Given the description of an element on the screen output the (x, y) to click on. 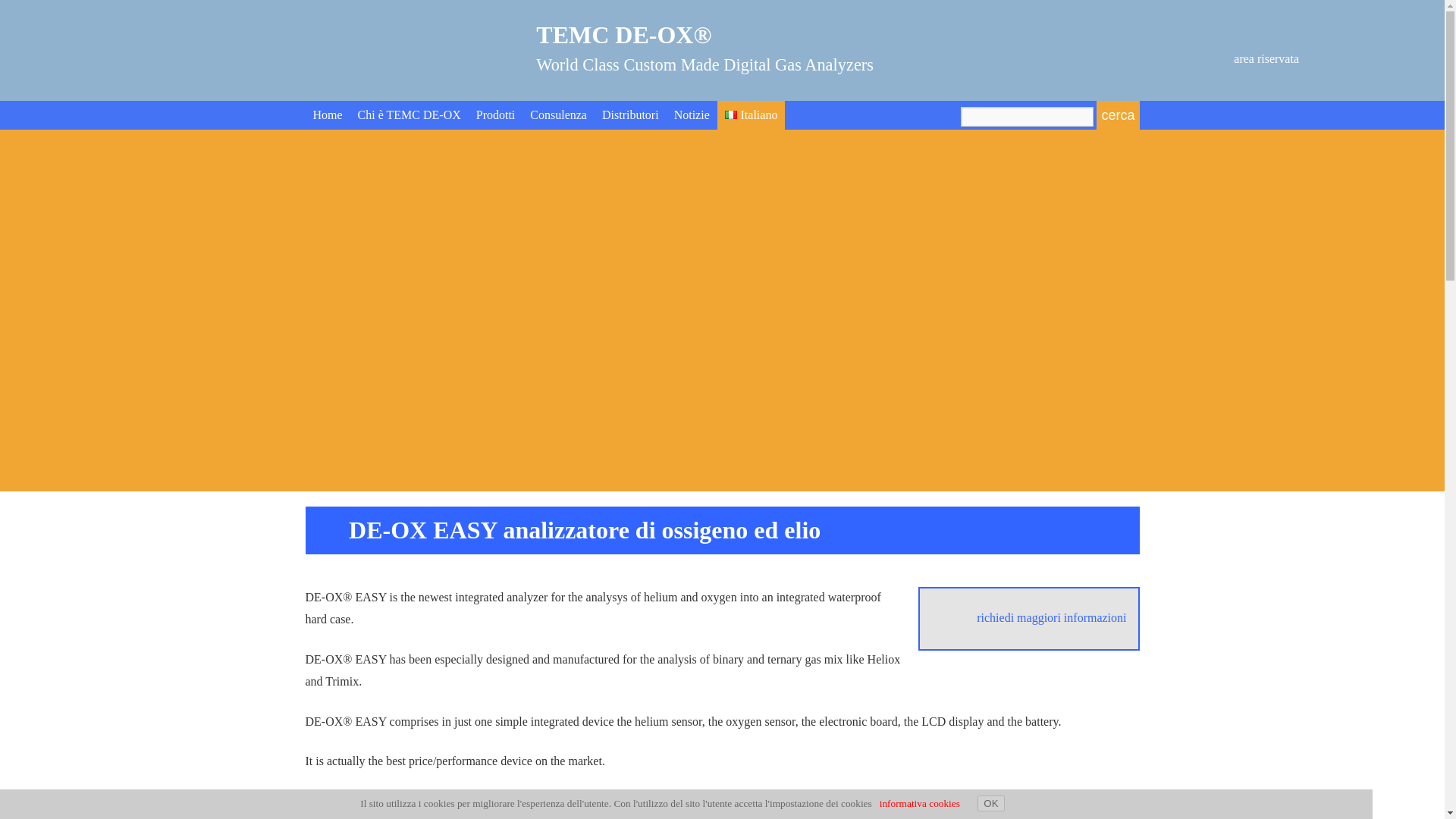
Italiano (751, 114)
Distributori (630, 114)
Prodotti (495, 114)
informativa cookies (919, 803)
Home (326, 114)
informativa cookies (919, 803)
OK (990, 803)
cerca (1117, 114)
Notizie (691, 114)
